Given the description of an element on the screen output the (x, y) to click on. 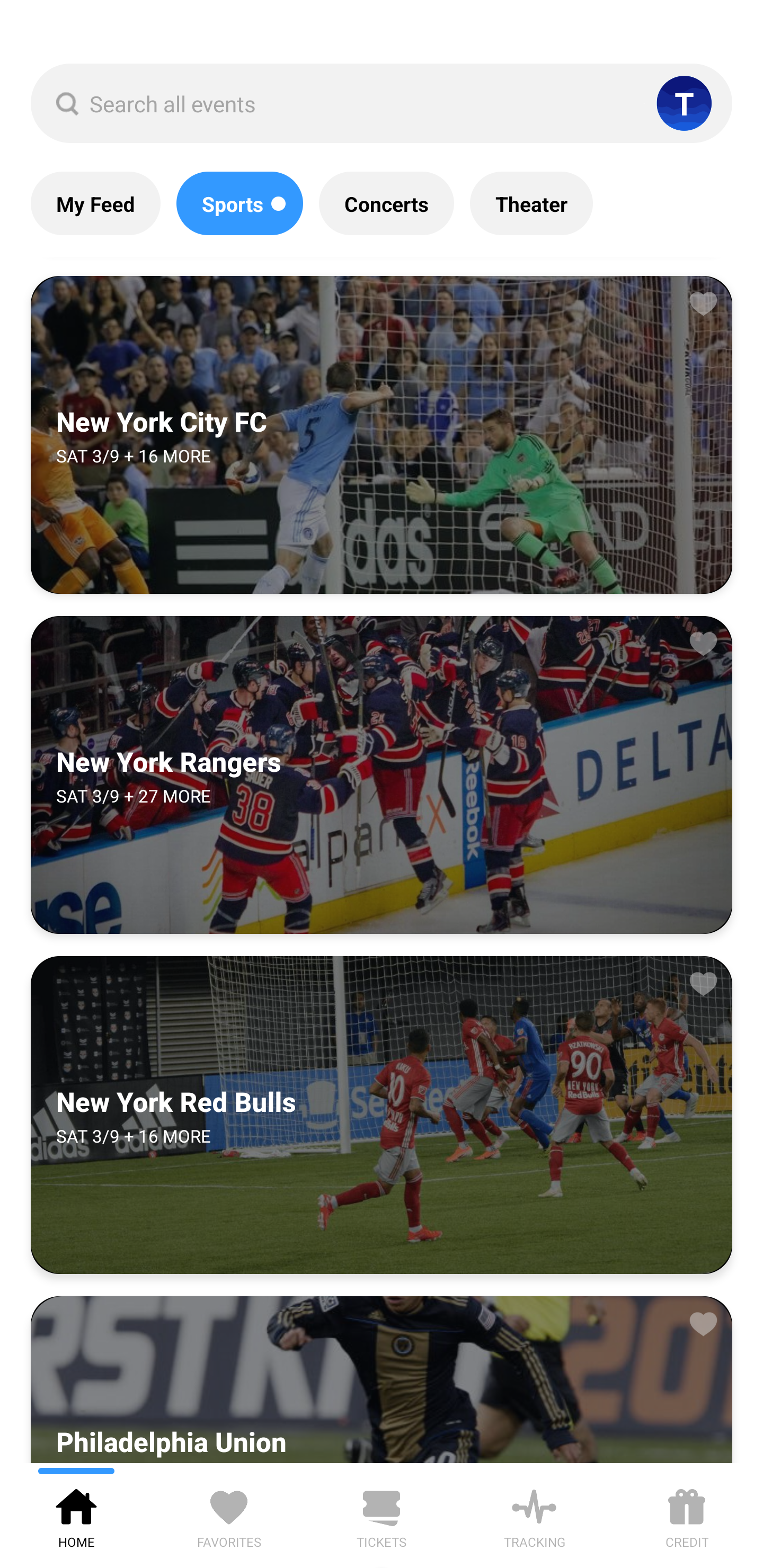
Search all events (381, 103)
T (683, 102)
My Feed (95, 202)
Sports (239, 202)
Concerts (385, 202)
Theater (531, 202)
HOME (76, 1515)
FAVORITES (228, 1515)
TICKETS (381, 1515)
TRACKING (533, 1515)
CREDIT (686, 1515)
